Given the description of an element on the screen output the (x, y) to click on. 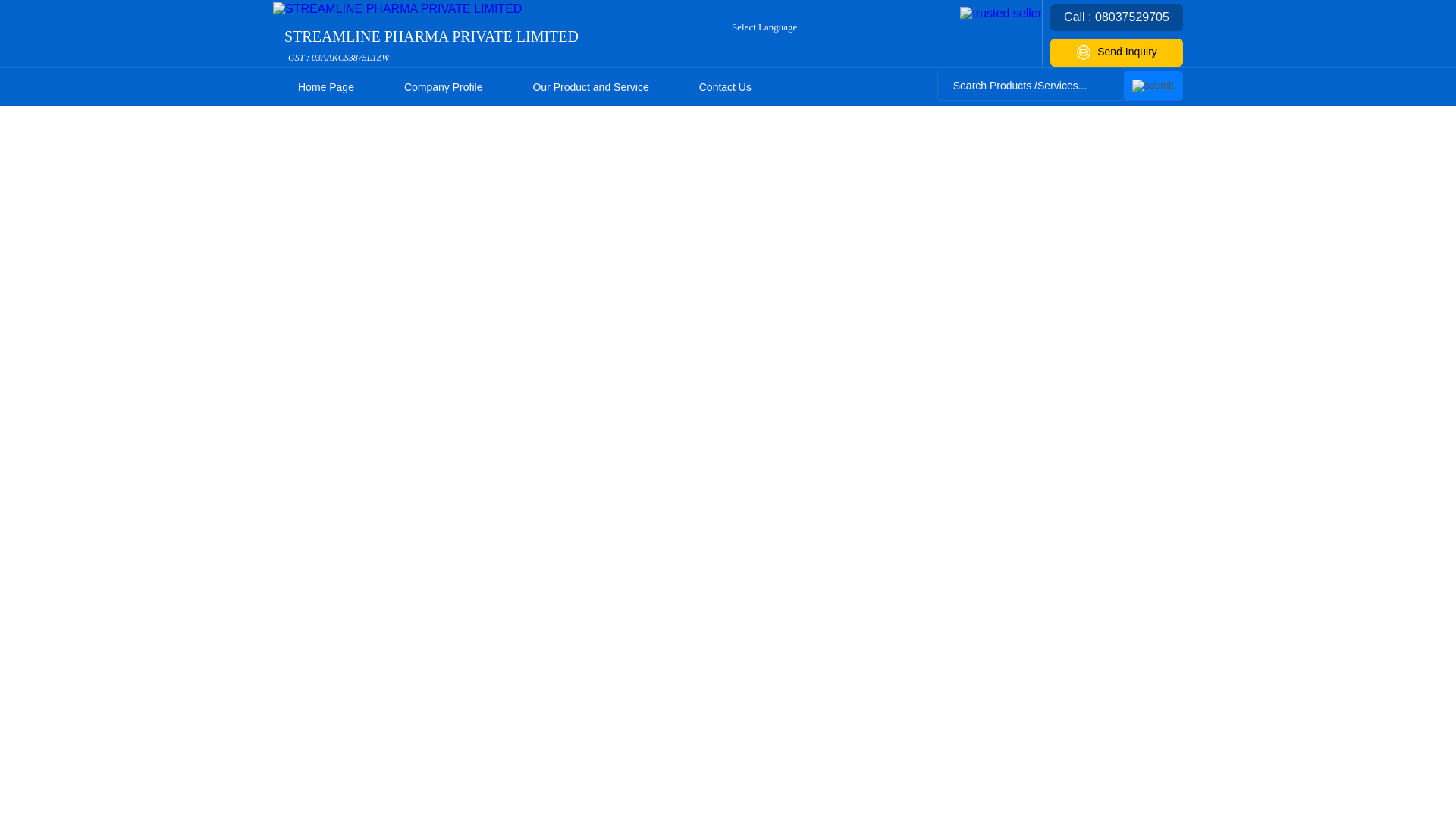
Our Product and Service (589, 86)
Home Page (325, 86)
Company Profile (443, 86)
submit (430, 45)
Select Language (1153, 85)
Send Inquiry (778, 26)
